Given the description of an element on the screen output the (x, y) to click on. 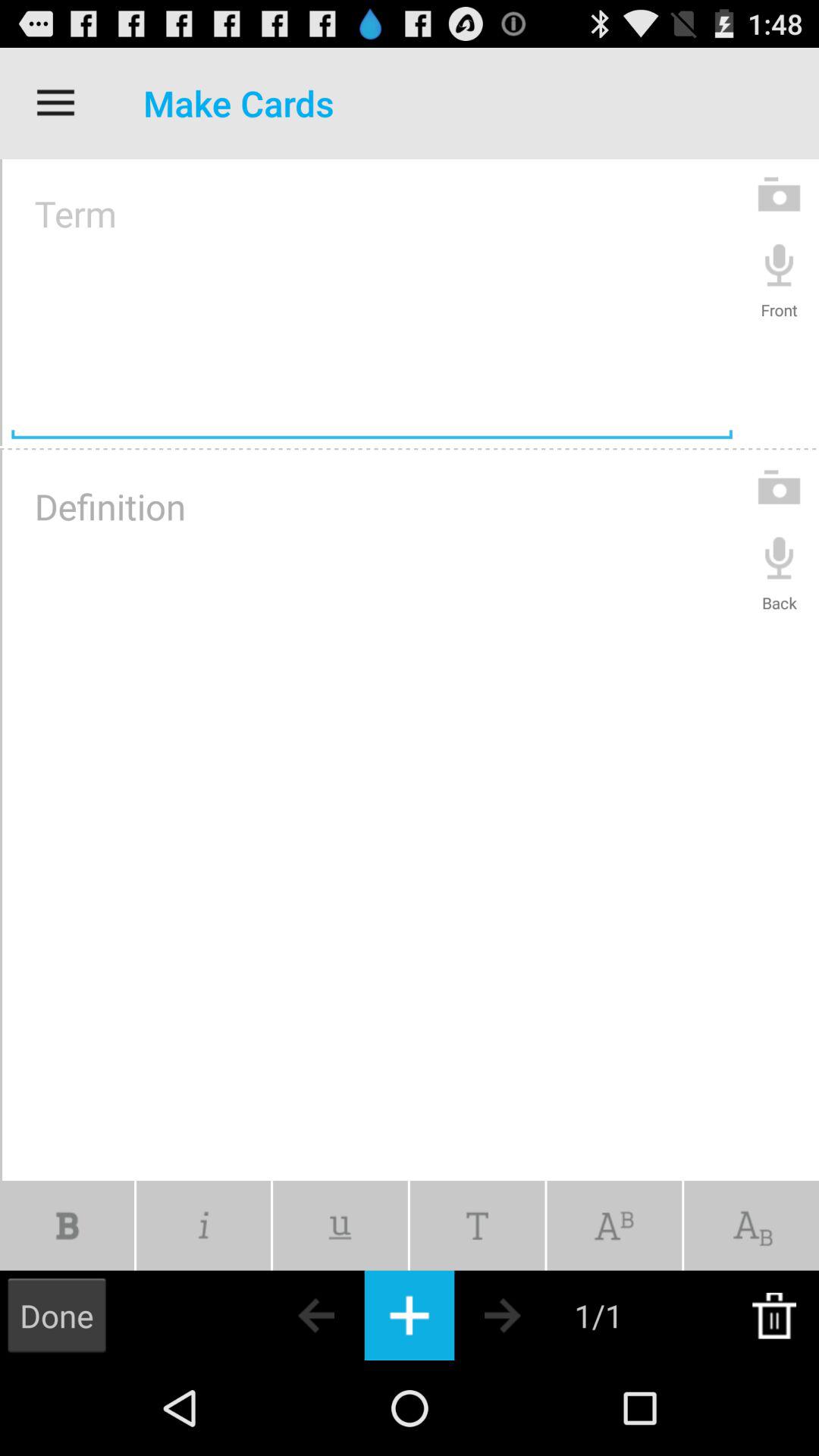
add text button (409, 1315)
